Given the description of an element on the screen output the (x, y) to click on. 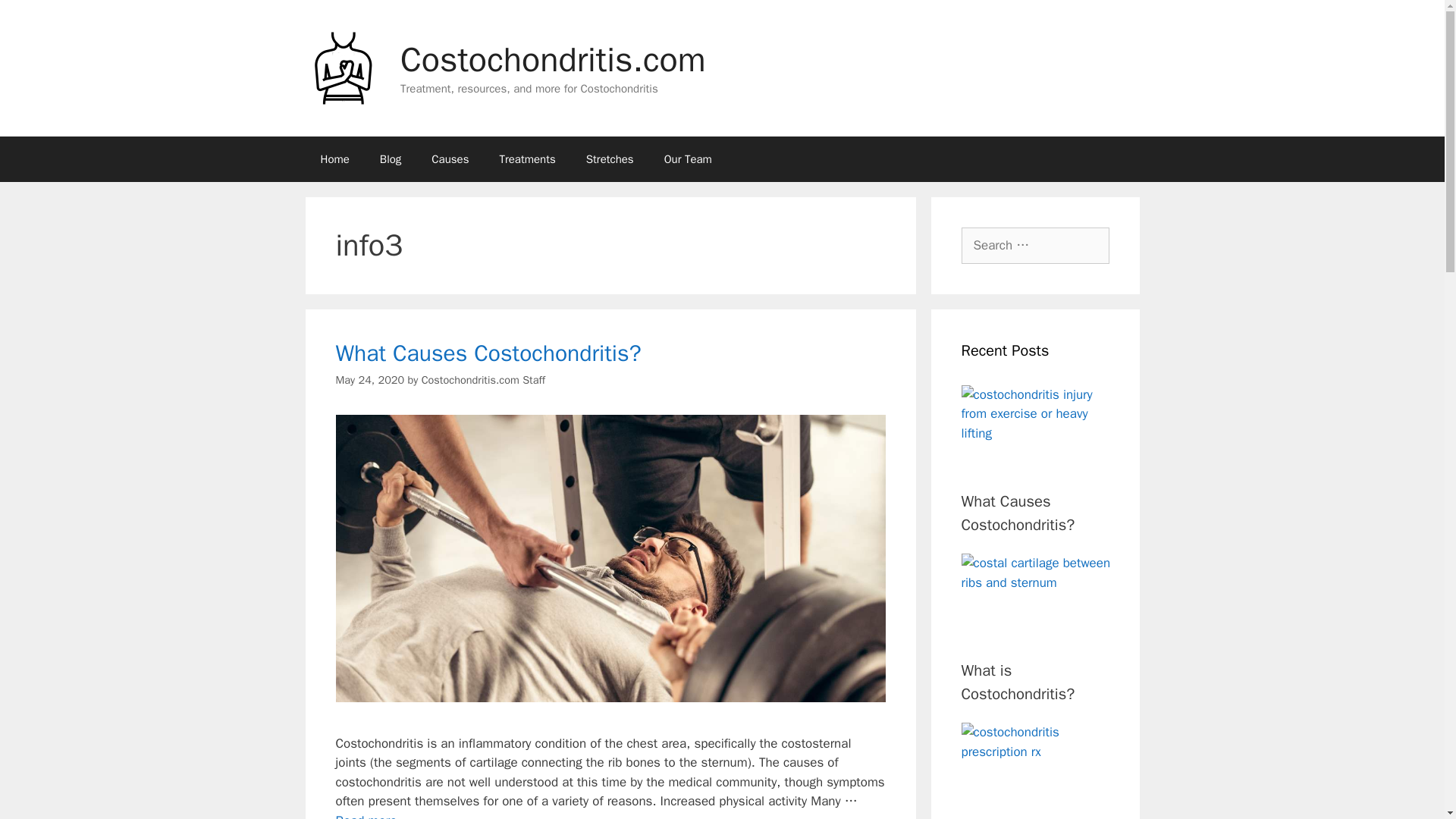
What is Costochondritis? (1017, 681)
View all posts by Costochondritis.com Staff (483, 379)
What Causes Costochondritis? (1017, 512)
Treatments (526, 158)
Costochondritis.com (553, 59)
Stretches (609, 158)
Our Team (365, 816)
2:59 pm (687, 158)
Home (369, 379)
Causes (334, 158)
Costochondritis.com (449, 158)
Costochondritis.com Staff (342, 68)
Search for: (483, 379)
What Causes Costochondritis? (1034, 245)
